Given the description of an element on the screen output the (x, y) to click on. 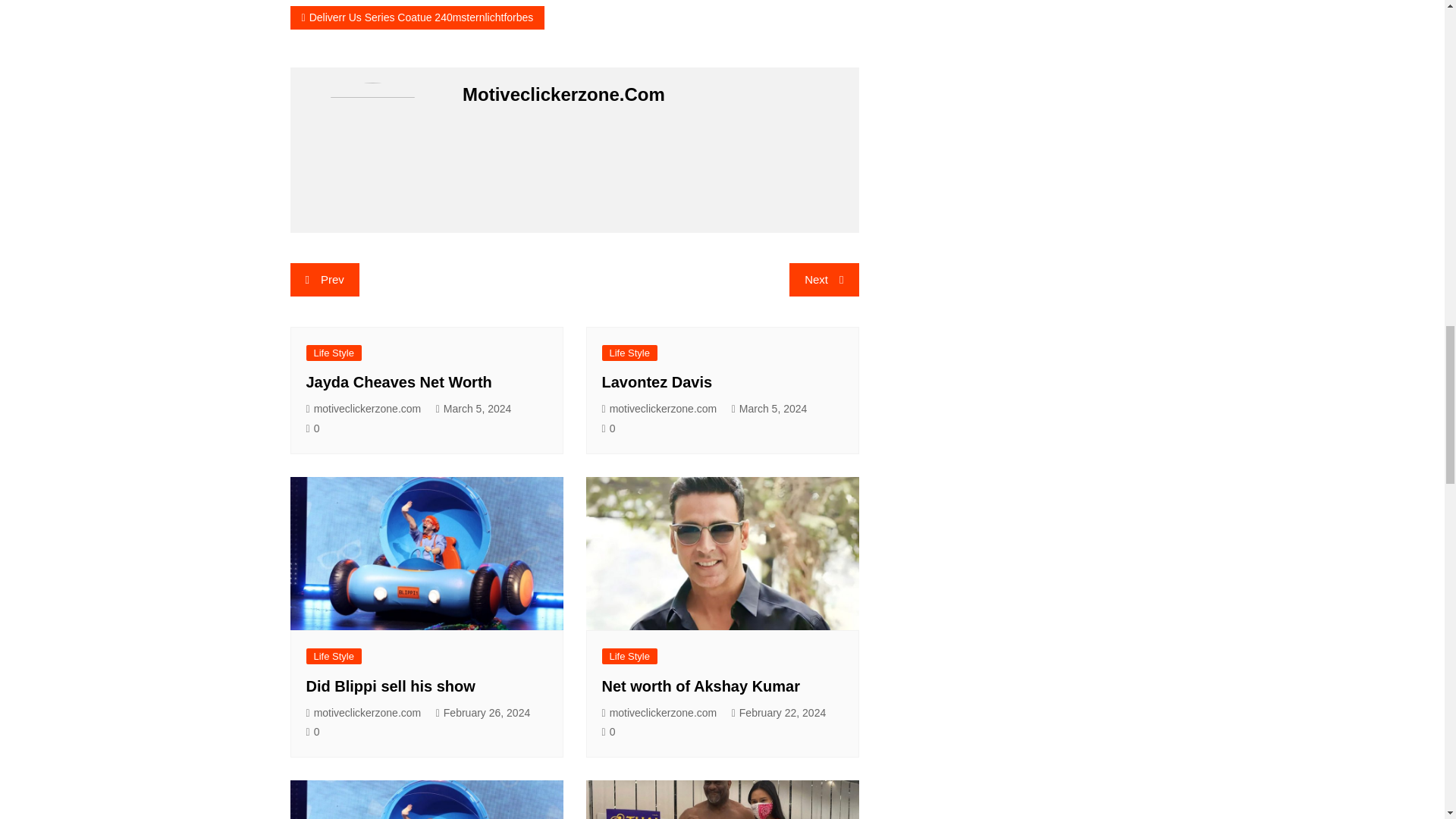
Life Style (333, 352)
motiveclickerzone.com (363, 408)
March 5, 2024 (770, 408)
Life Style (333, 656)
Life Style (630, 352)
motiveclickerzone.com (659, 408)
Jayda Cheaves Net Worth (398, 381)
motiveclickerzone.com (363, 712)
Lavontez Davis (657, 381)
Deliverr Us Series Coatue 240msternlichtforbes (416, 17)
Did Blippi sell his show (390, 686)
Prev (323, 279)
Next (824, 279)
March 5, 2024 (473, 408)
